Given the description of an element on the screen output the (x, y) to click on. 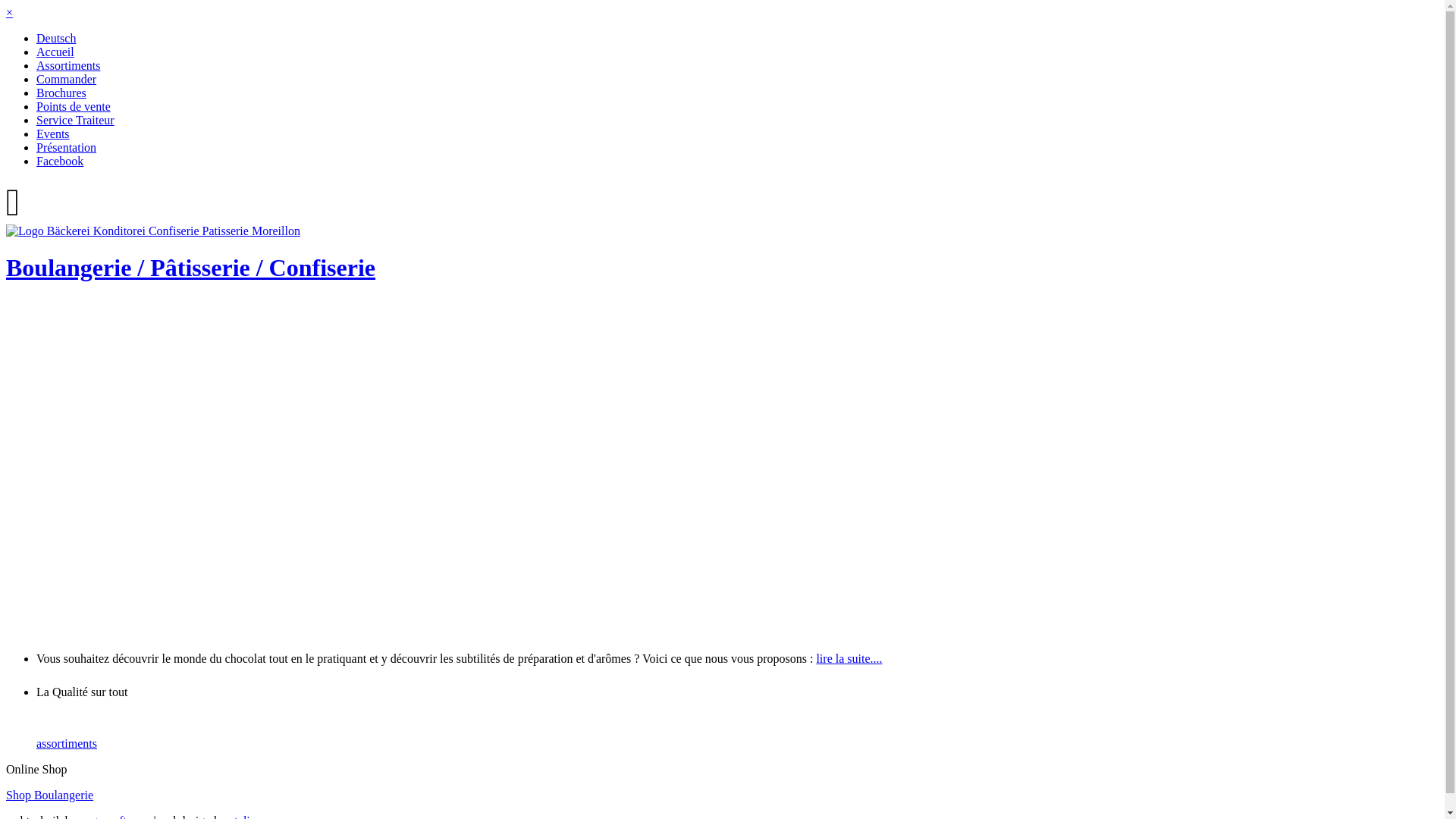
lire la suite.... Element type: text (848, 658)
Service Traiteur Element type: text (75, 119)
Events Element type: text (52, 133)
assortiments Element type: text (66, 743)
Facebook Element type: text (59, 160)
Assortiments Element type: text (68, 65)
Points de vente Element type: text (73, 106)
Commander Element type: text (66, 78)
Accueil Element type: text (55, 51)
Deutsch Element type: text (55, 37)
Brochures Element type: text (61, 92)
Shop Boulangerie Element type: text (49, 794)
